Given the description of an element on the screen output the (x, y) to click on. 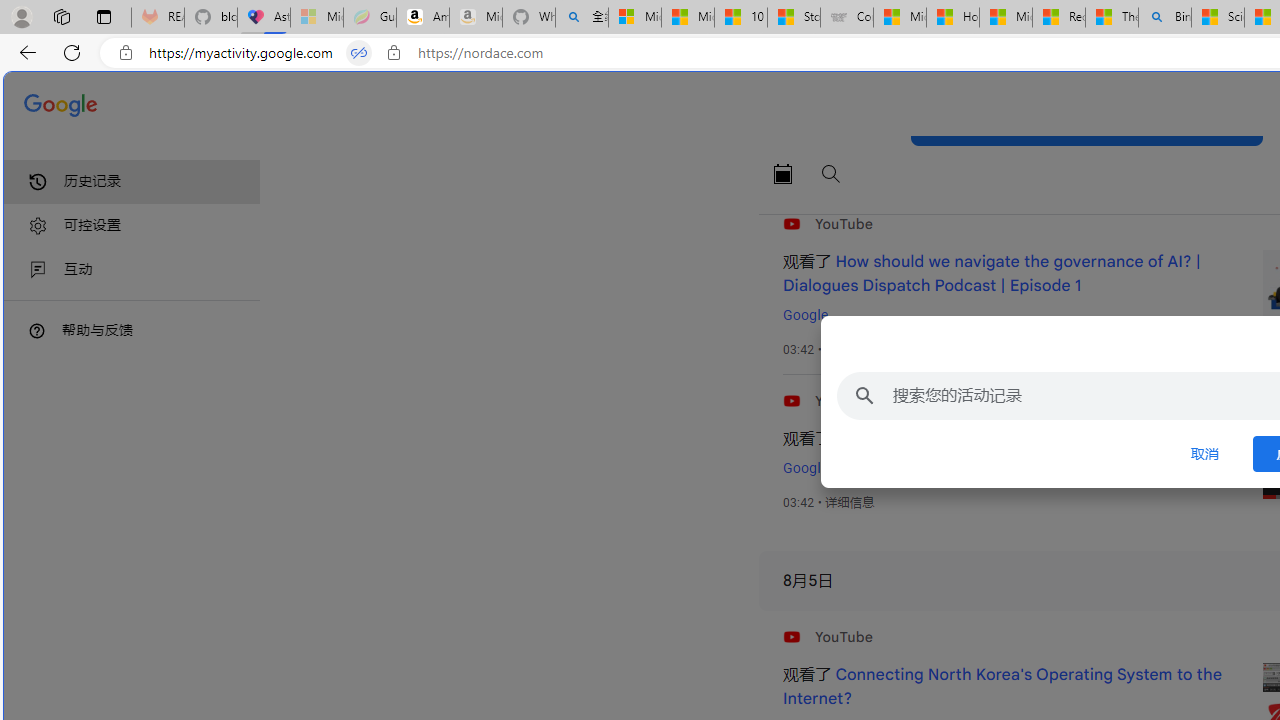
How I Got Rid of Microsoft Edge's Unnecessary Features (952, 17)
Class: i2GIId (38, 269)
